Given the description of an element on the screen output the (x, y) to click on. 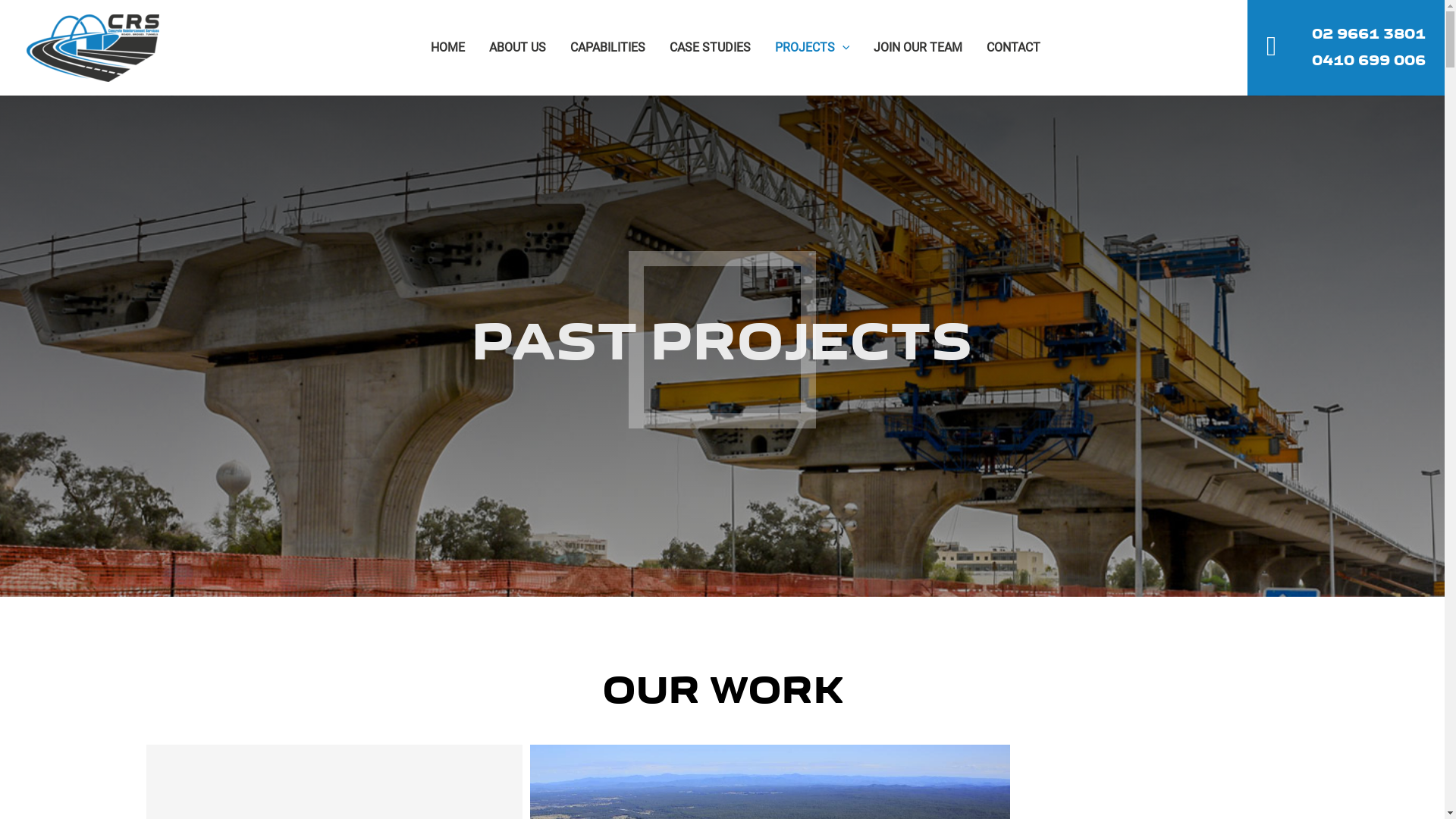
CASE STUDIES Element type: text (709, 47)
0410 699 006 Element type: text (1368, 61)
CONTACT Element type: text (1013, 47)
JOIN OUR TEAM Element type: text (917, 47)
ABOUT US Element type: text (517, 47)
CAPABILITIES Element type: text (607, 47)
PROJECTS Element type: text (812, 47)
HOME Element type: text (447, 47)
02 9661 3801 Element type: text (1368, 34)
